Given the description of an element on the screen output the (x, y) to click on. 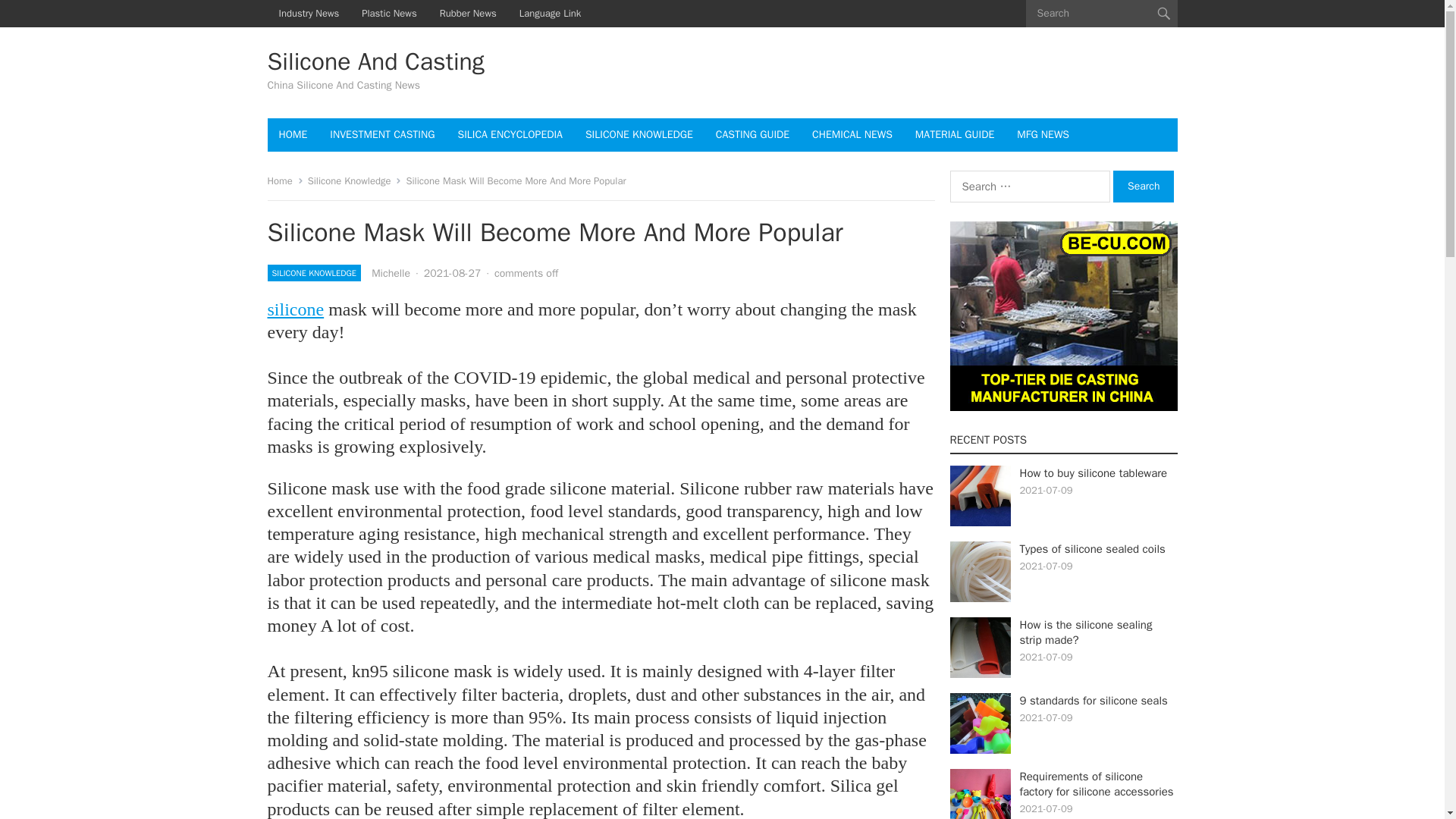
MATERIAL GUIDE (955, 134)
Home (284, 180)
INVESTMENT CASTING (381, 134)
silicone (294, 309)
Search (1143, 186)
How to buy silicone tableware (1093, 472)
CASTING GUIDE (752, 134)
SILICONE KNOWLEDGE (638, 134)
Language Link (550, 13)
Search (1143, 186)
HOME (292, 134)
Michelle (390, 273)
silicone (294, 309)
SILICA ENCYCLOPEDIA (509, 134)
Search (1143, 186)
